Given the description of an element on the screen output the (x, y) to click on. 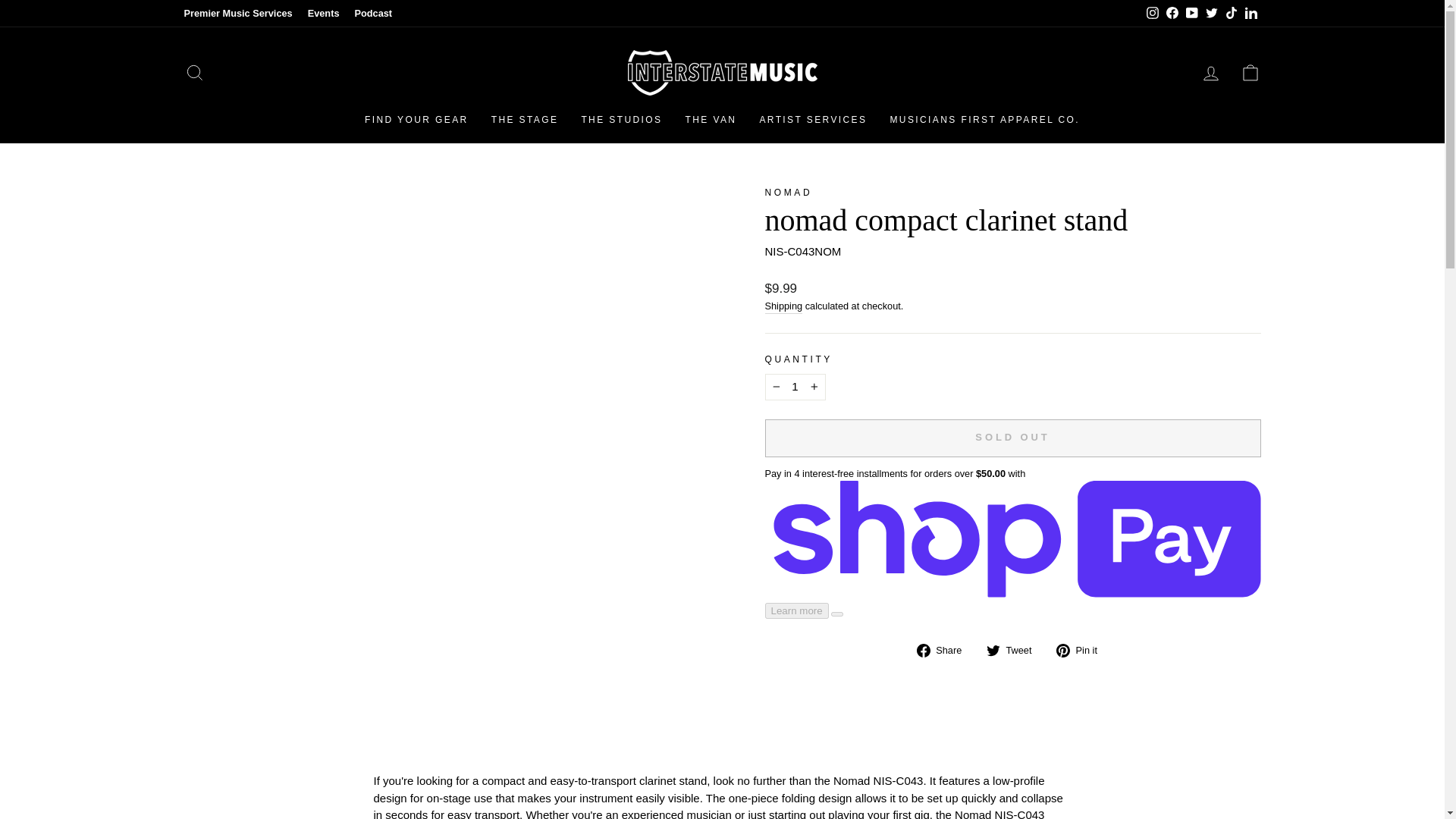
Nomad (788, 192)
Tweet on Twitter (1014, 650)
Pin on Pinterest (1082, 650)
Events (323, 13)
Share on Facebook (944, 650)
Podcast (372, 13)
Interstate Music on Twitter (1211, 13)
Interstate Music on TikTok (1230, 13)
Interstate Music on YouTube (1190, 13)
Interstate Music on Instagram (1151, 13)
